Given the description of an element on the screen output the (x, y) to click on. 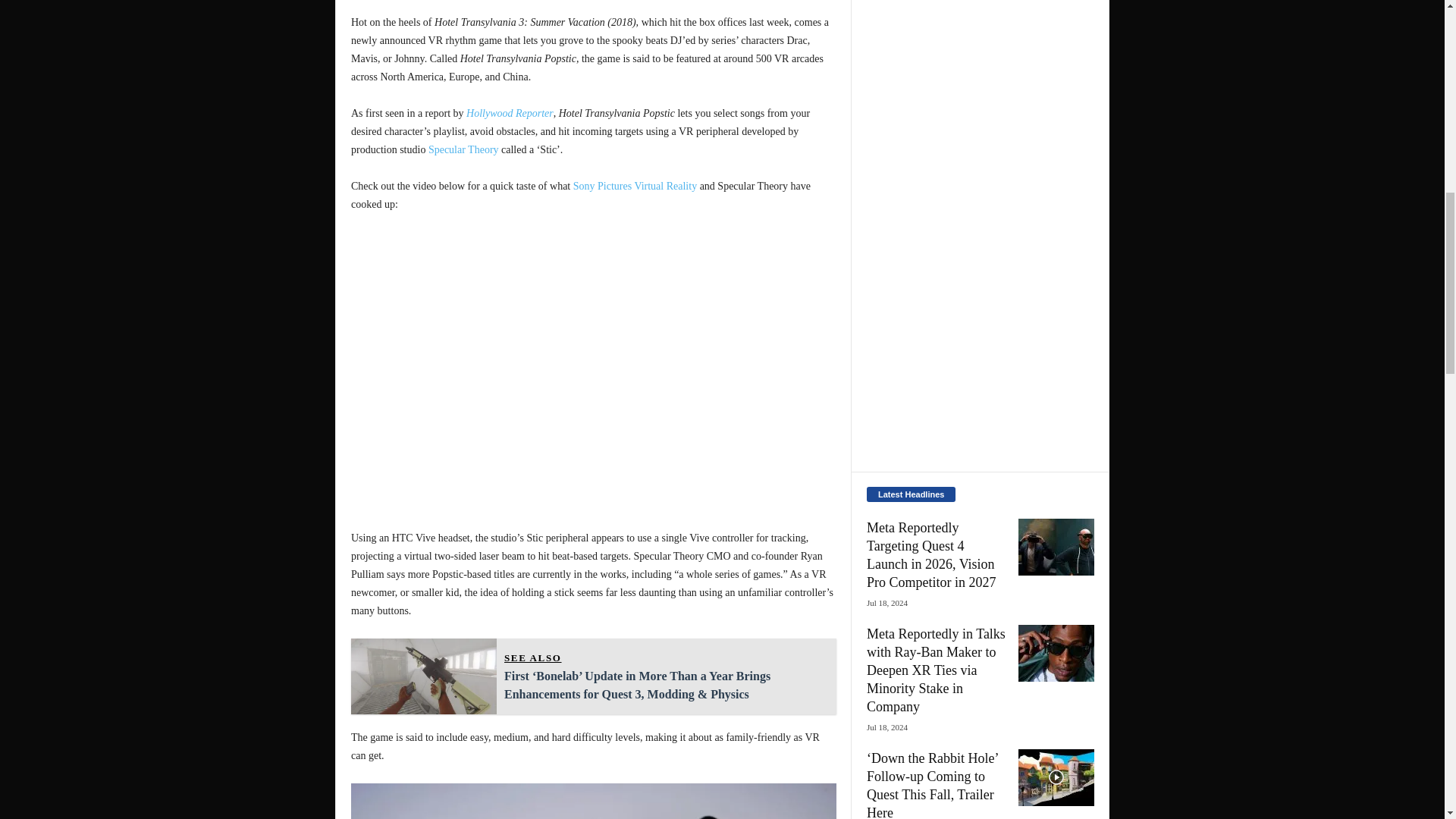
Sony Pictures Virtual Reality (635, 185)
Hollywood Reporter (509, 112)
Specular Theory (463, 149)
